Given the description of an element on the screen output the (x, y) to click on. 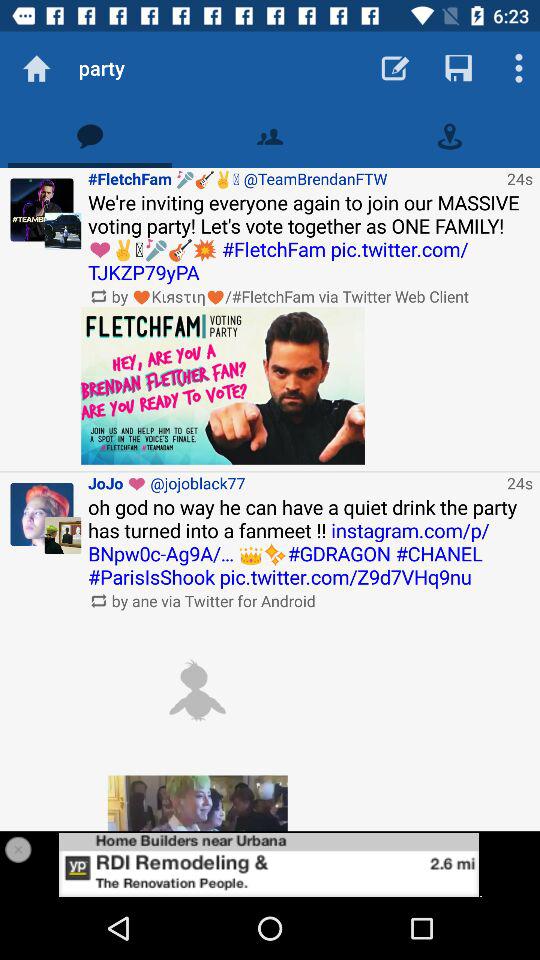
open the image (197, 690)
